Given the description of an element on the screen output the (x, y) to click on. 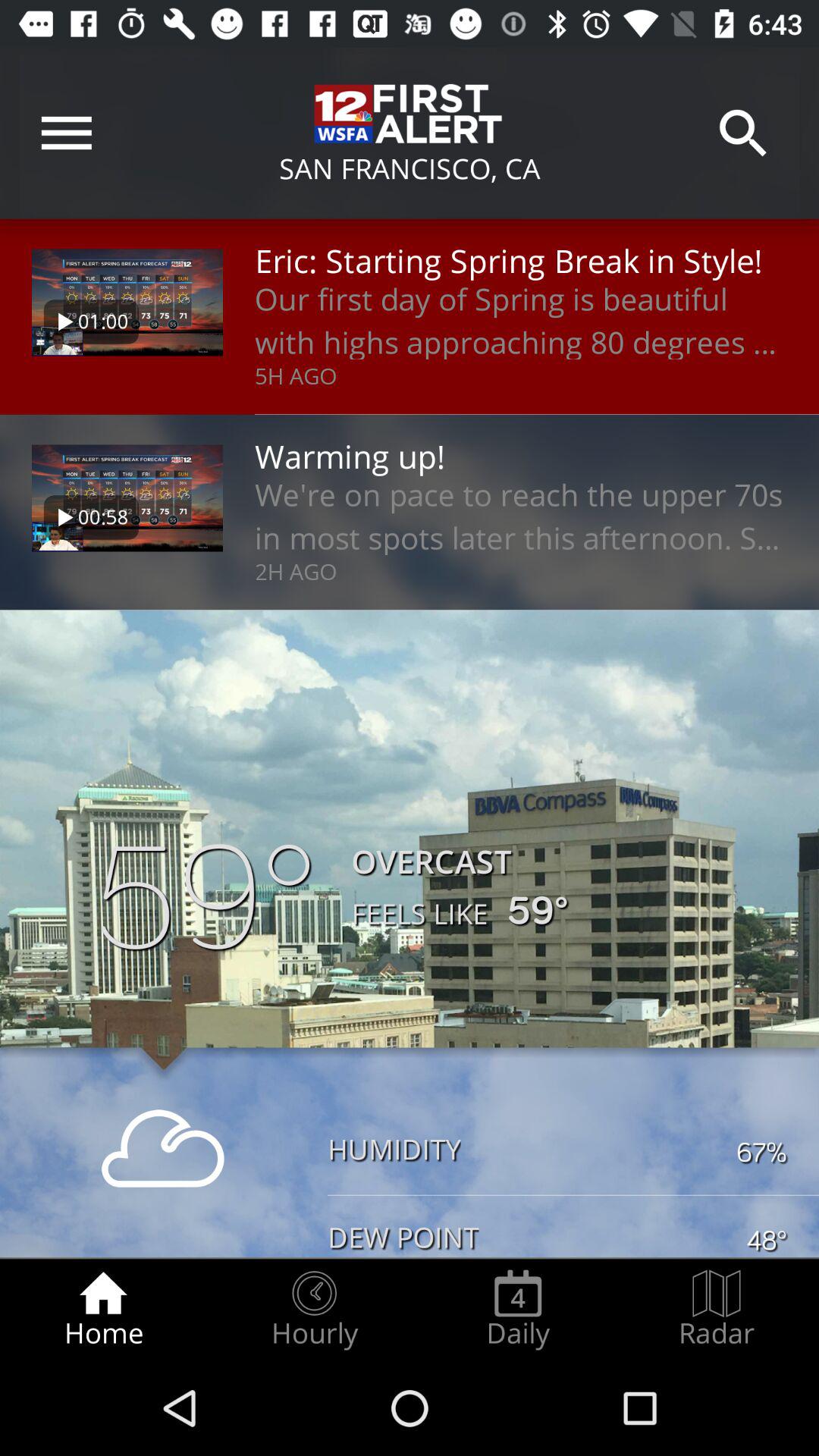
turn off item to the right of home item (314, 1309)
